Given the description of an element on the screen output the (x, y) to click on. 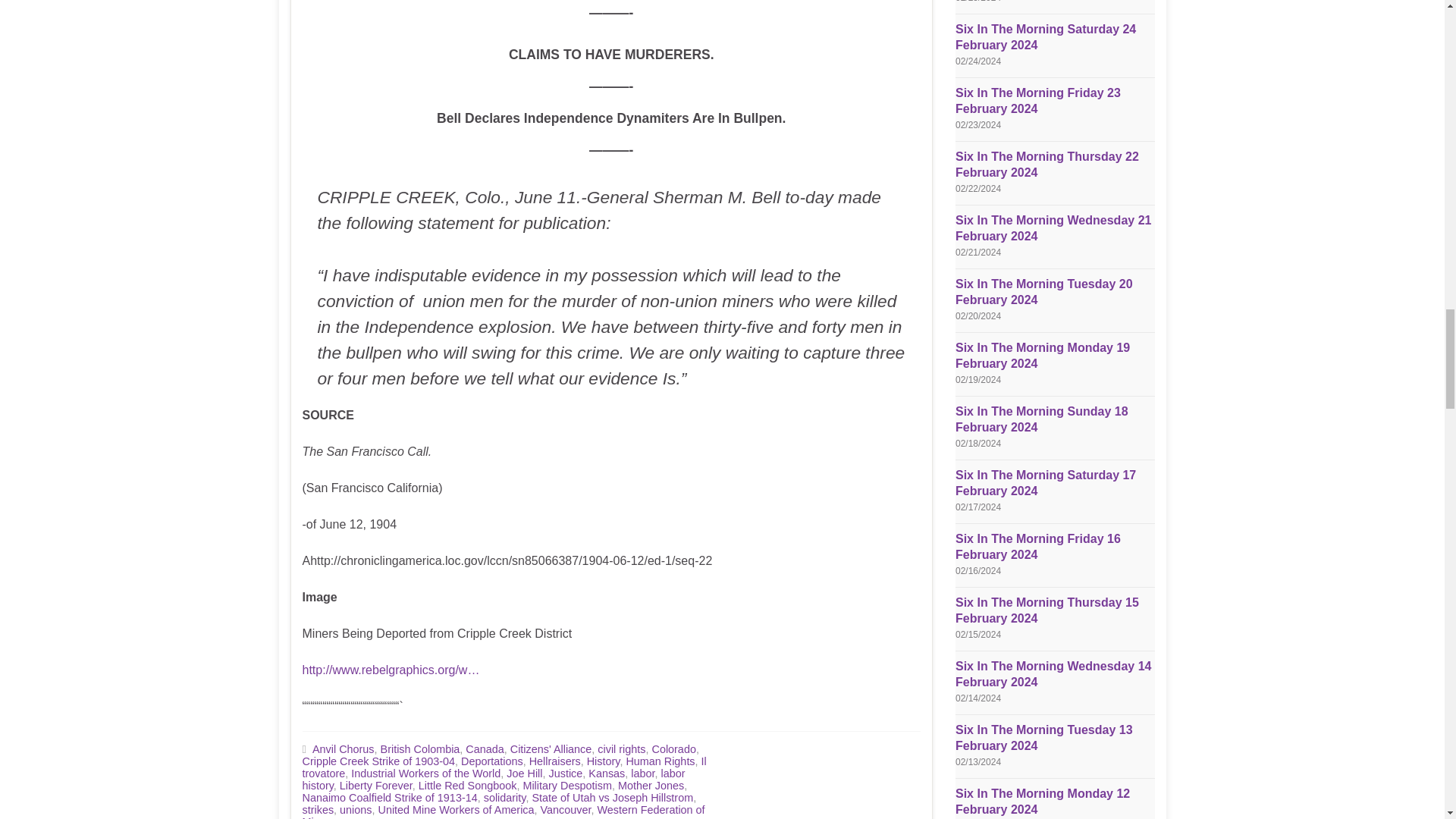
civil rights (620, 748)
Western Federation of Miners (502, 811)
Deportations (491, 761)
Canada (484, 748)
Hellraisers (554, 761)
Vancouver (565, 809)
United Mine Workers of America (455, 809)
British Colombia (420, 748)
Anvil Chorus (343, 748)
Il trovatore (503, 767)
Nanaimo Coalfield Strike of 1913-14 (389, 797)
strikes (317, 809)
Citizens' Alliance (551, 748)
Joe Hill (523, 773)
Mother Jones (650, 785)
